Given the description of an element on the screen output the (x, y) to click on. 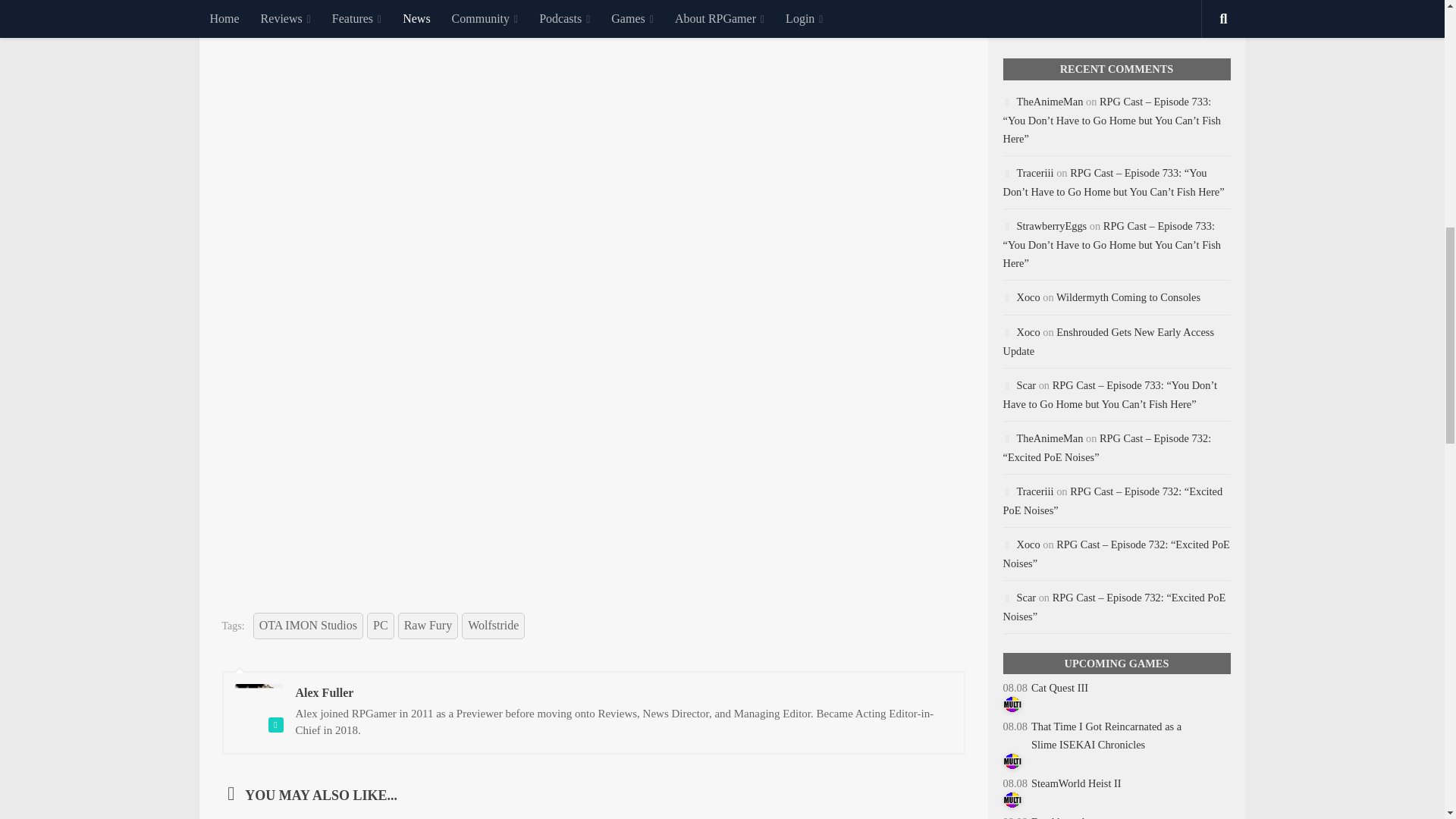
YouTube video player (592, 34)
